Given the description of an element on the screen output the (x, y) to click on. 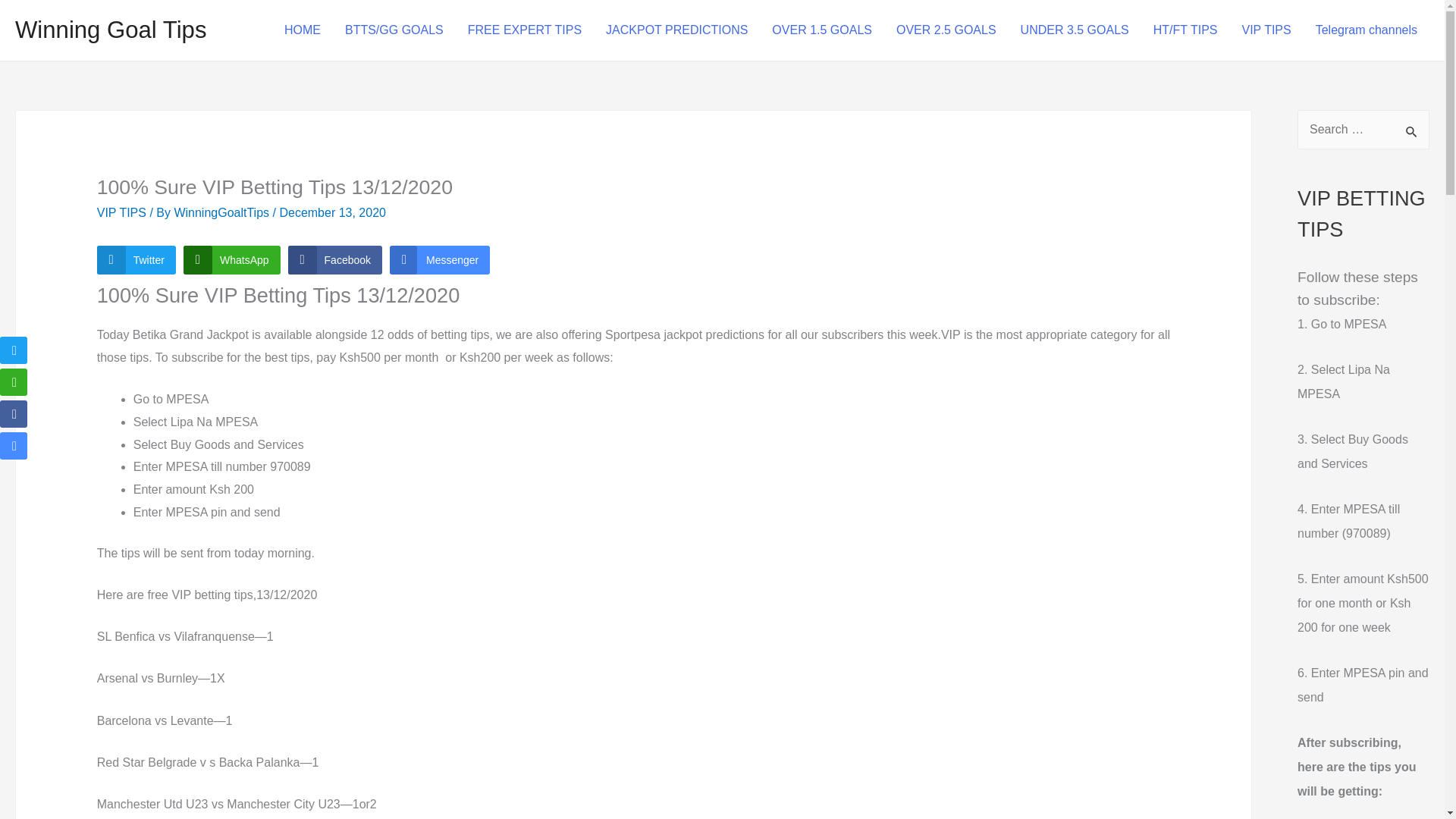
OVER 1.5 GOALS (821, 30)
UNDER 3.5 GOALS (1075, 30)
View all posts by WinningGoaltTips (222, 212)
FREE EXPERT TIPS (524, 30)
HOME (302, 30)
JACKPOT PREDICTIONS (677, 30)
VIP TIPS (1265, 30)
Telegram channels (1366, 30)
Winning Goal Tips (110, 29)
OVER 2.5 GOALS (946, 30)
